Given the description of an element on the screen output the (x, y) to click on. 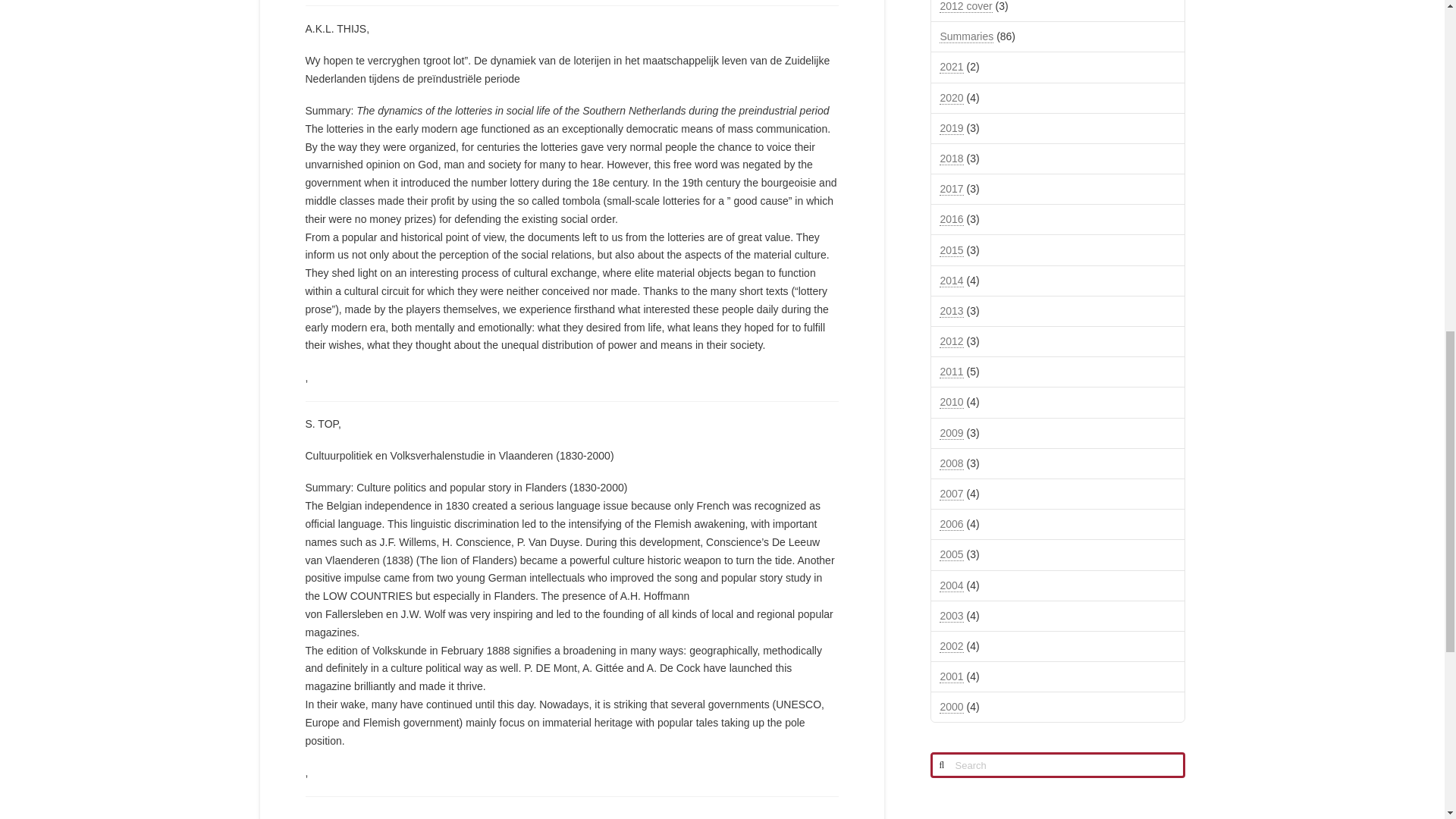
2013 (950, 310)
2004 (950, 585)
2014 (950, 280)
2003 (950, 615)
2007 (950, 493)
2006 (950, 523)
2005 (950, 554)
2010 (950, 401)
2001 (950, 676)
2000 (950, 707)
